Given the description of an element on the screen output the (x, y) to click on. 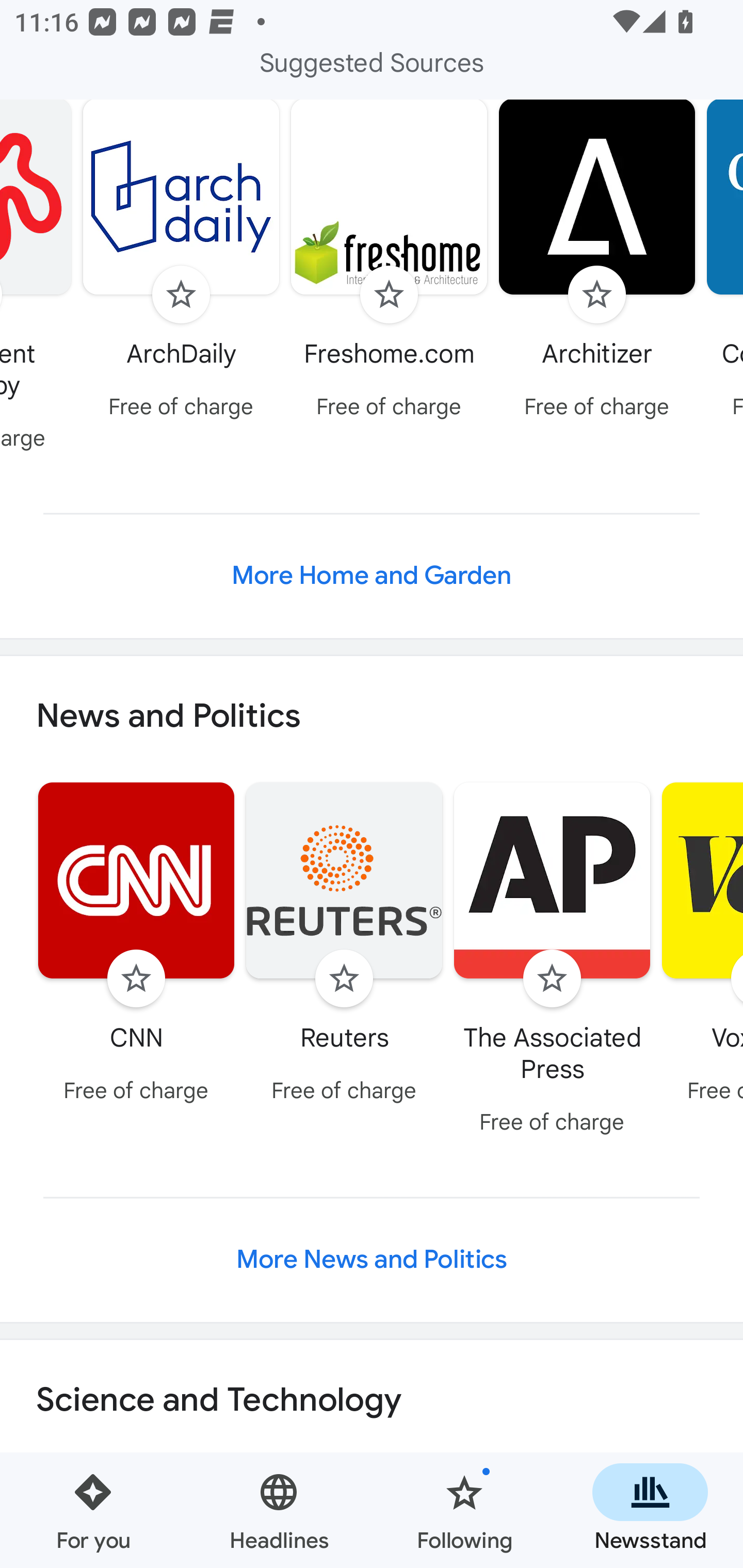
Follow ArchDaily Free of charge (181, 263)
Follow Freshome.com Free of charge (389, 263)
Follow Architizer Free of charge (597, 263)
Follow (181, 293)
Follow (388, 293)
Follow (596, 293)
More Home and Garden (371, 576)
News and Politics (371, 715)
Follow CNN Free of charge (136, 945)
Follow Reuters Free of charge (344, 945)
Follow The Associated Press Free of charge (552, 961)
Follow (135, 978)
Follow (343, 978)
Follow (552, 978)
More News and Politics (371, 1259)
Science and Technology (371, 1400)
For you (92, 1509)
Headlines (278, 1509)
Following (464, 1509)
Newsstand (650, 1509)
